Given the description of an element on the screen output the (x, y) to click on. 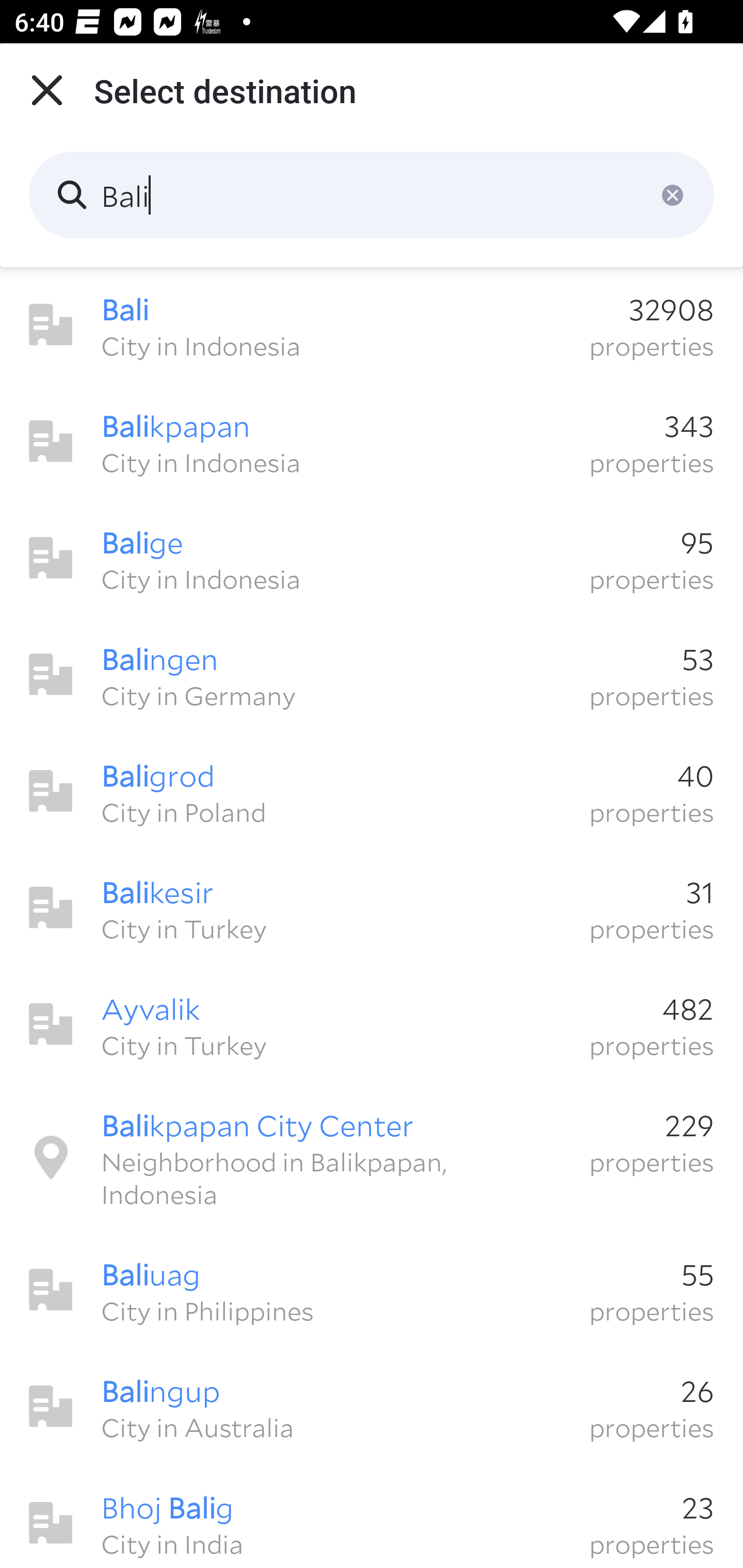
Bali (371, 195)
Bali 32908 City in Indonesia properties (371, 325)
Balikpapan 343 City in Indonesia properties (371, 442)
Balige 95 City in Indonesia properties (371, 558)
Balingen 53 City in Germany properties (371, 674)
Baligrod 40 City in Poland properties (371, 791)
Balikesir 31 City in Turkey properties (371, 907)
Ayvalik 482 City in Turkey properties (371, 1024)
Baliuag 55 City in Philippines properties (371, 1290)
Balingup 26 City in Australia properties (371, 1407)
Bhoj Balig 23 City in India properties (371, 1517)
